Given the description of an element on the screen output the (x, y) to click on. 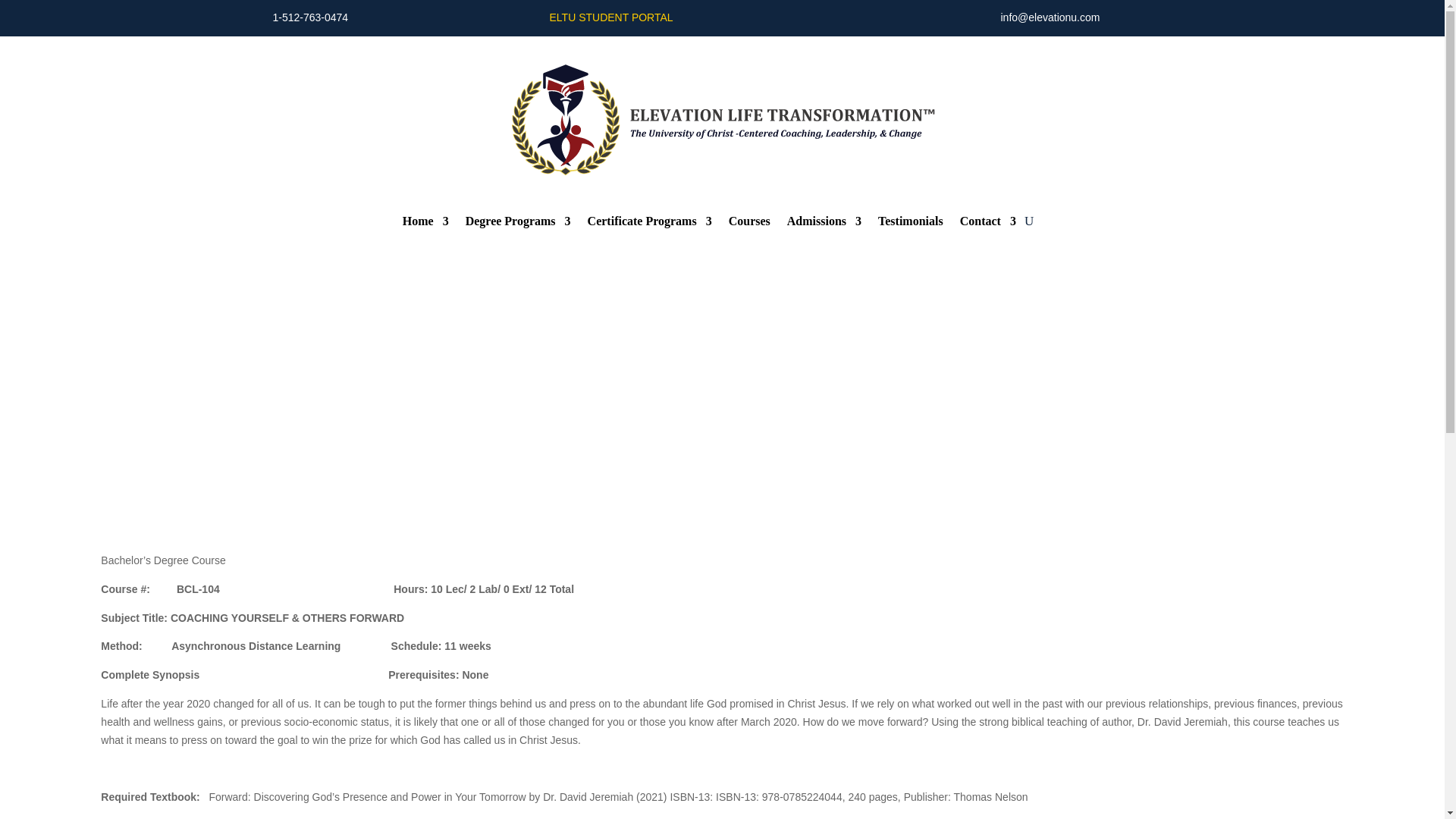
Testimonials (910, 224)
Degree Programs (517, 224)
Home (425, 224)
Contact (987, 224)
Courses (749, 224)
ELEVATION-LIFE-576-x-184 (721, 120)
Certificate Programs (649, 224)
ELTU STUDENT PORTAL (610, 17)
Admissions (824, 224)
